Given the description of an element on the screen output the (x, y) to click on. 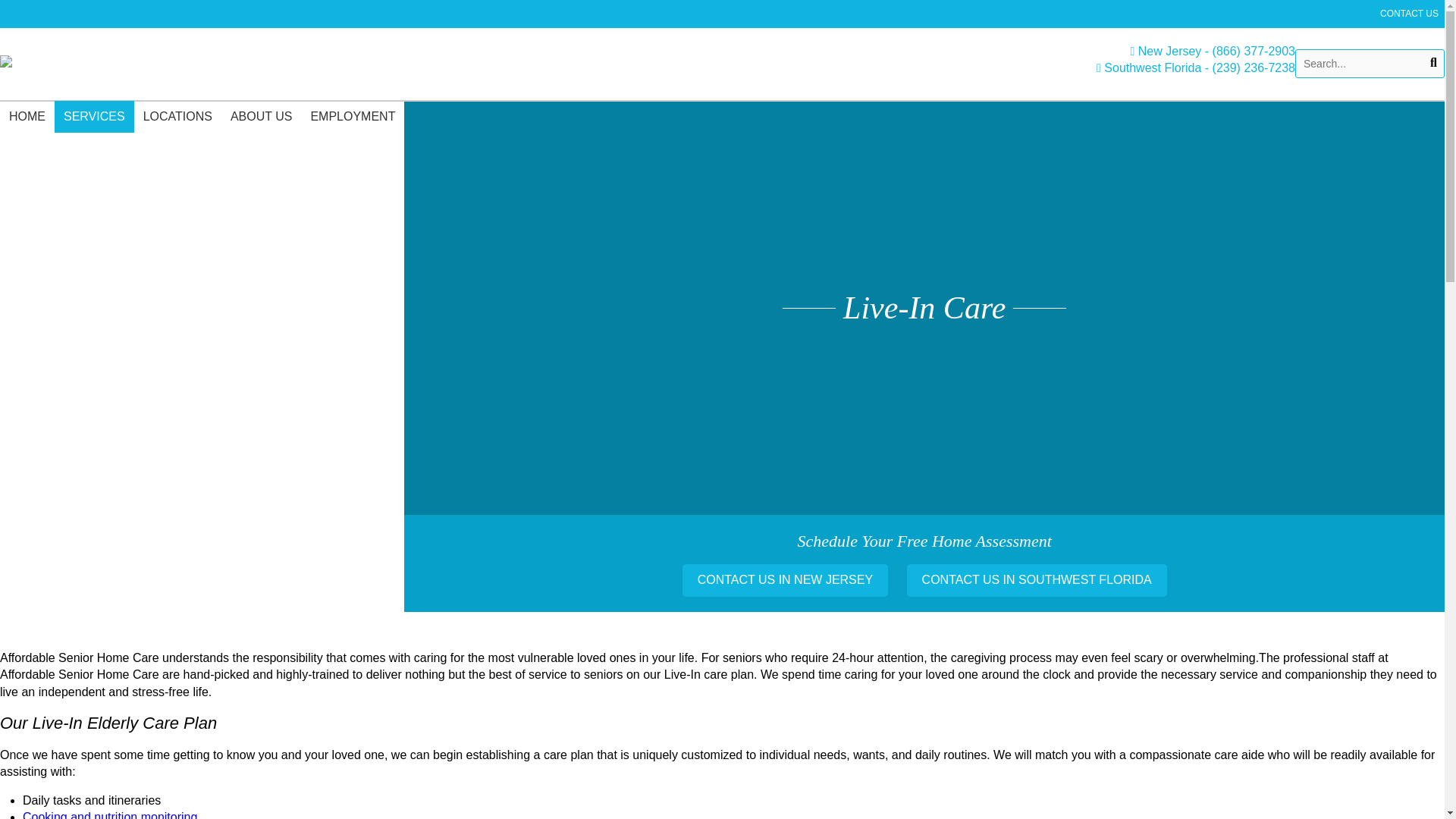
CONTACT US IN NEW JERSEY (785, 580)
EMPLOYMENT (352, 116)
LOCATIONS (177, 116)
HOME (27, 116)
SERVICES (94, 116)
ABOUT US (261, 116)
